Given the description of an element on the screen output the (x, y) to click on. 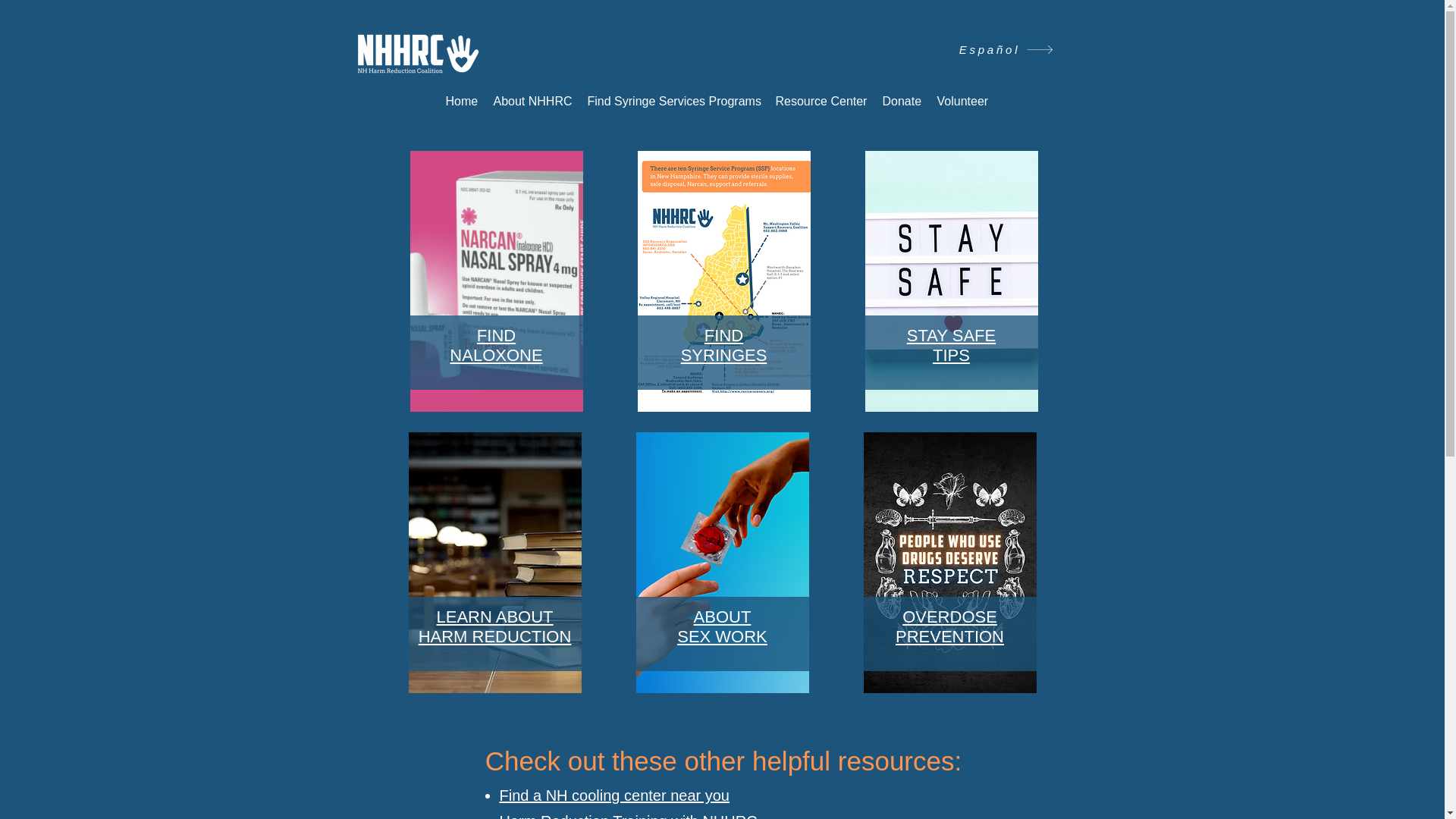
Find a NH cooling center near you (614, 795)
Find Syringe Services Programs (949, 626)
Harm Reduction Training with NHHRC (495, 344)
Volunteer (673, 100)
